Given the description of an element on the screen output the (x, y) to click on. 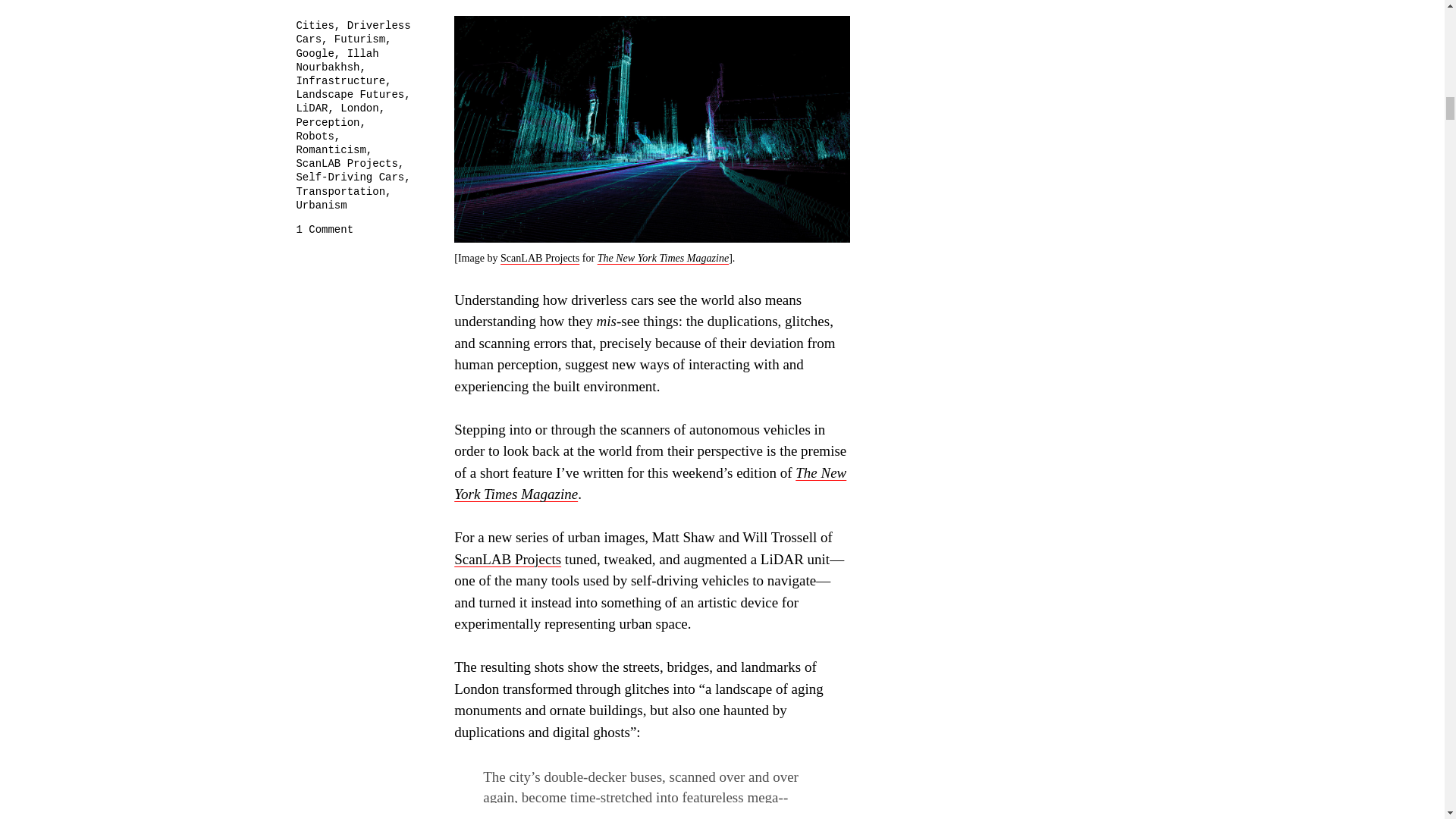
ScanLAB Projects (507, 559)
ScanLAB Projects (539, 257)
The New York Times Magazine (662, 257)
The New York Times Magazine (649, 483)
BLDGBLOG (320, 3)
